Given the description of an element on the screen output the (x, y) to click on. 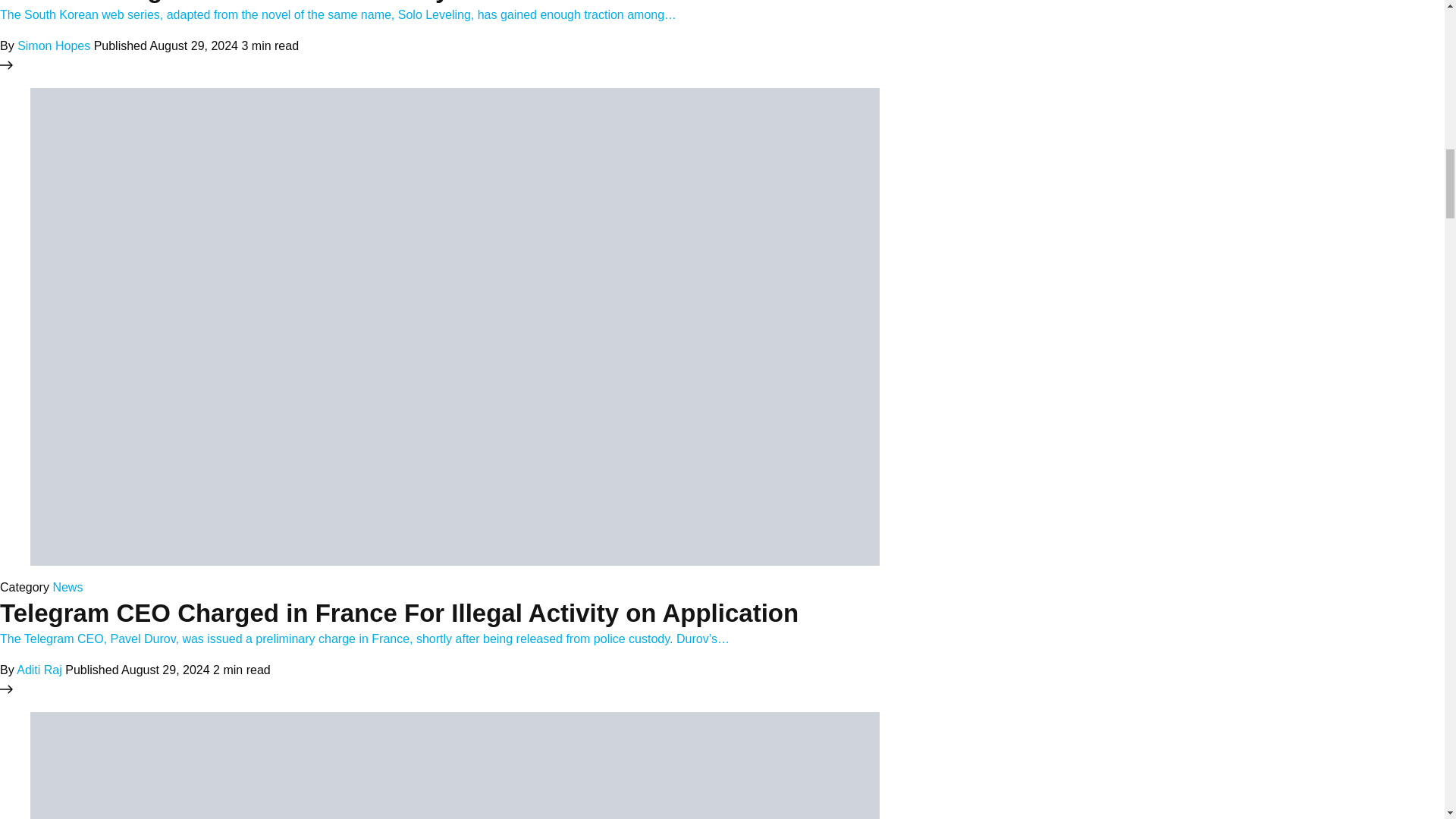
News (67, 586)
Aditi Raj (39, 669)
Simon Hopes (53, 45)
